Given the description of an element on the screen output the (x, y) to click on. 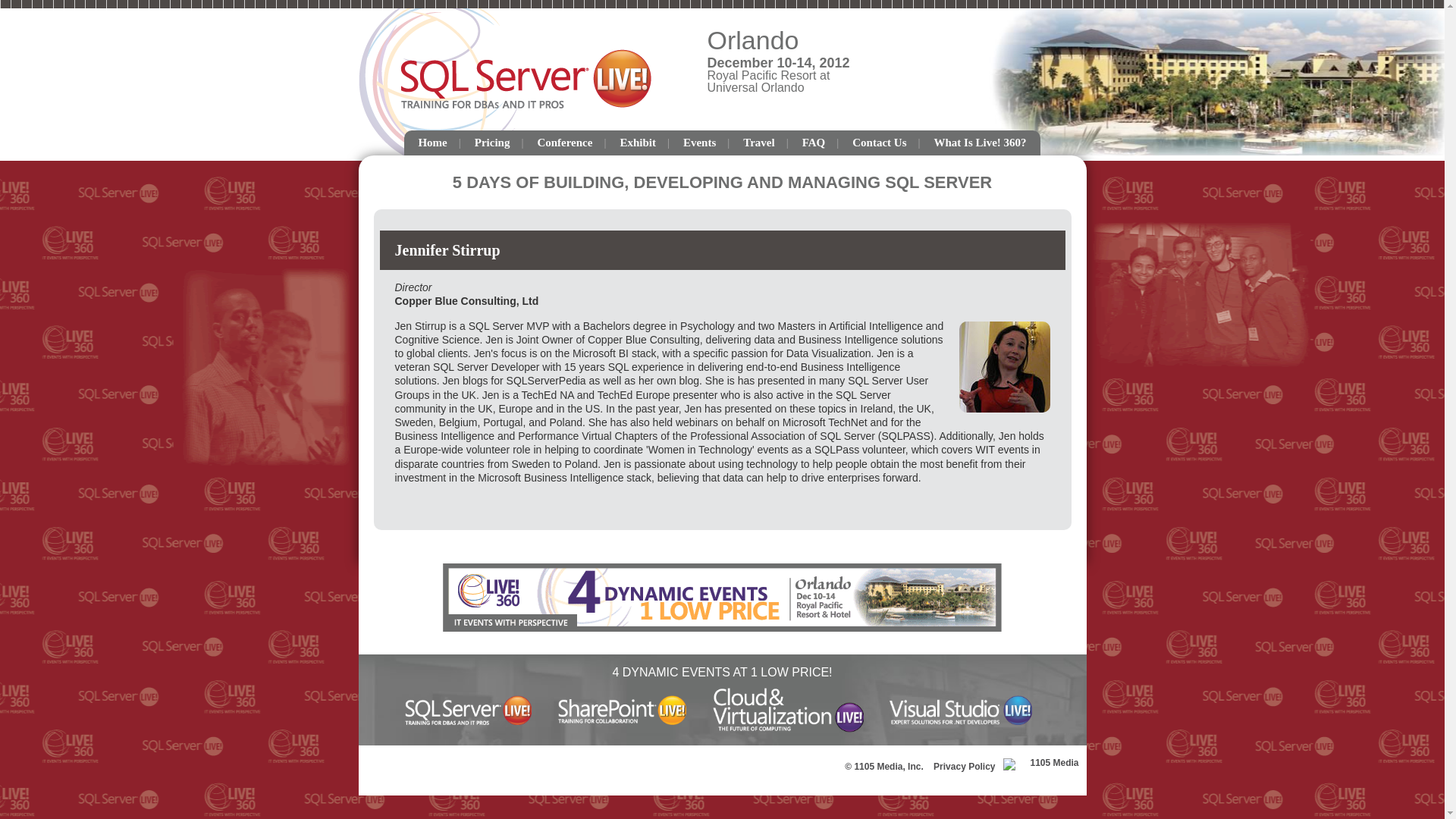
FAQ (814, 142)
Events (699, 142)
Home (432, 142)
Exhibit (637, 142)
Contact Us (879, 142)
Travel (758, 142)
Conference (563, 142)
What Is Live! 360? (979, 142)
Privacy Policy (960, 766)
Pricing (492, 142)
